Given the description of an element on the screen output the (x, y) to click on. 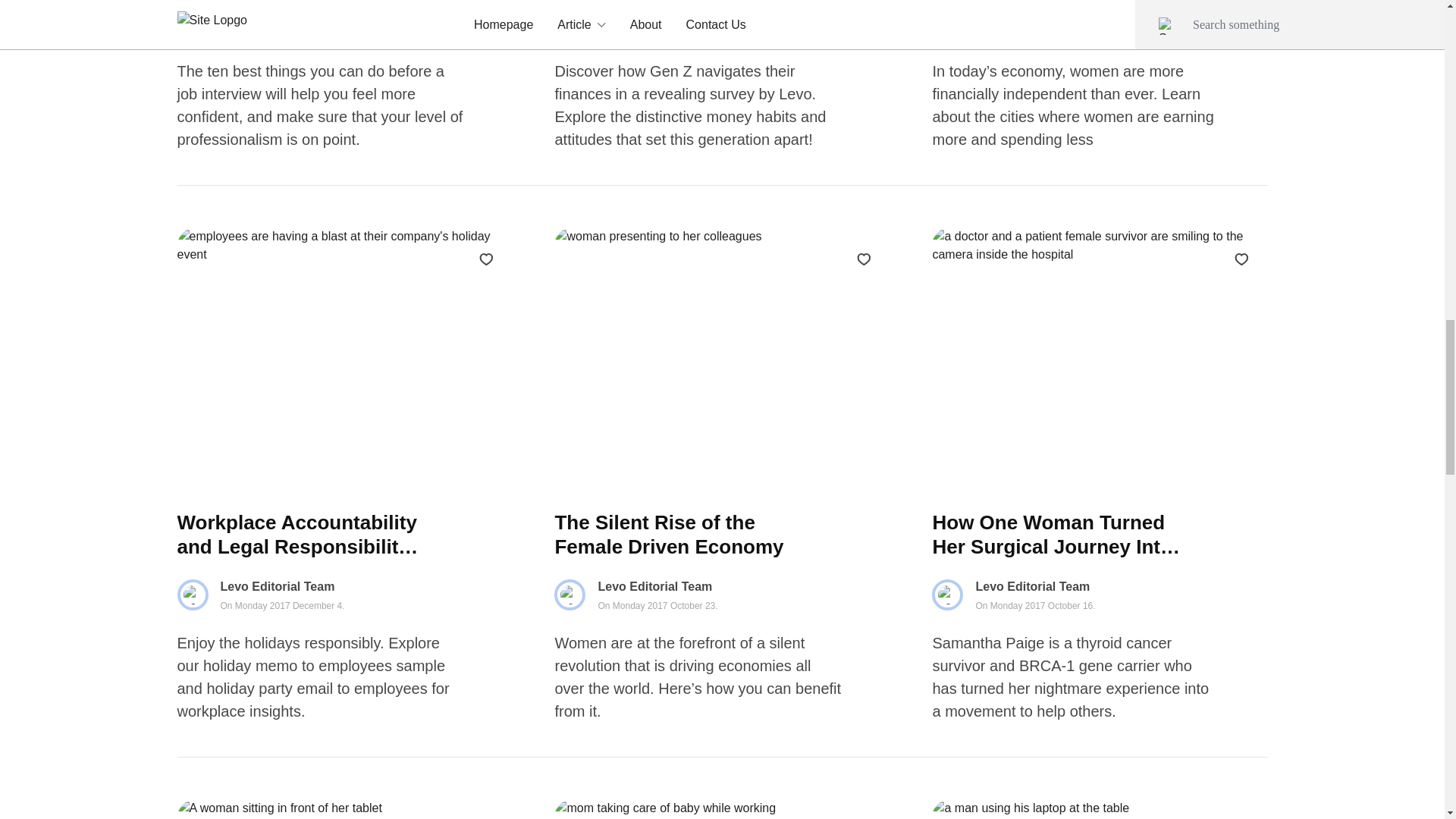
How One Woman Turned Her Surgical Journey Into a Movement (1056, 534)
The Silent Rise of the Female Driven Economy (344, 22)
